Given the description of an element on the screen output the (x, y) to click on. 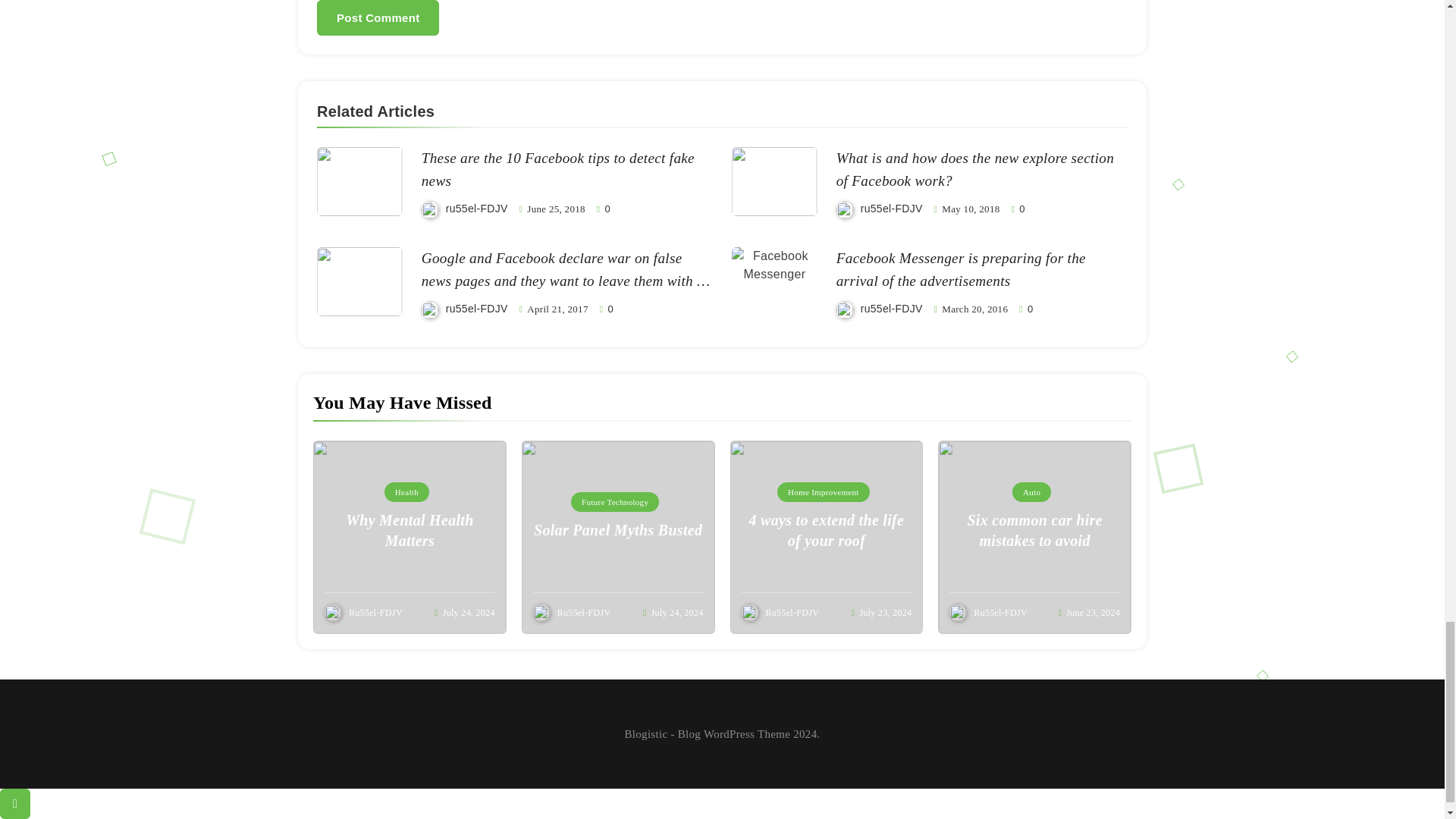
Post Comment (378, 18)
